Given the description of an element on the screen output the (x, y) to click on. 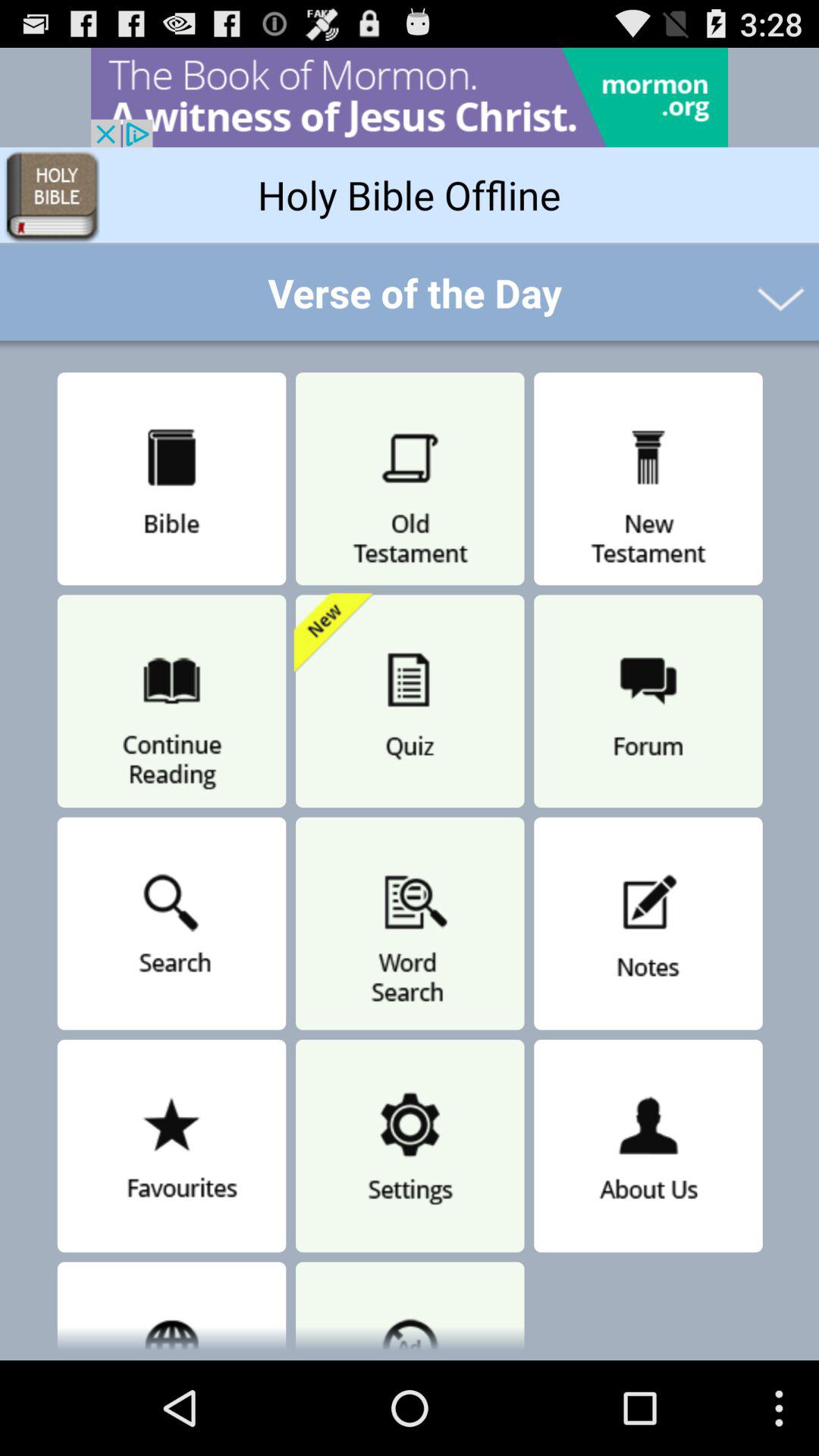
open advertisement (409, 97)
